Given the description of an element on the screen output the (x, y) to click on. 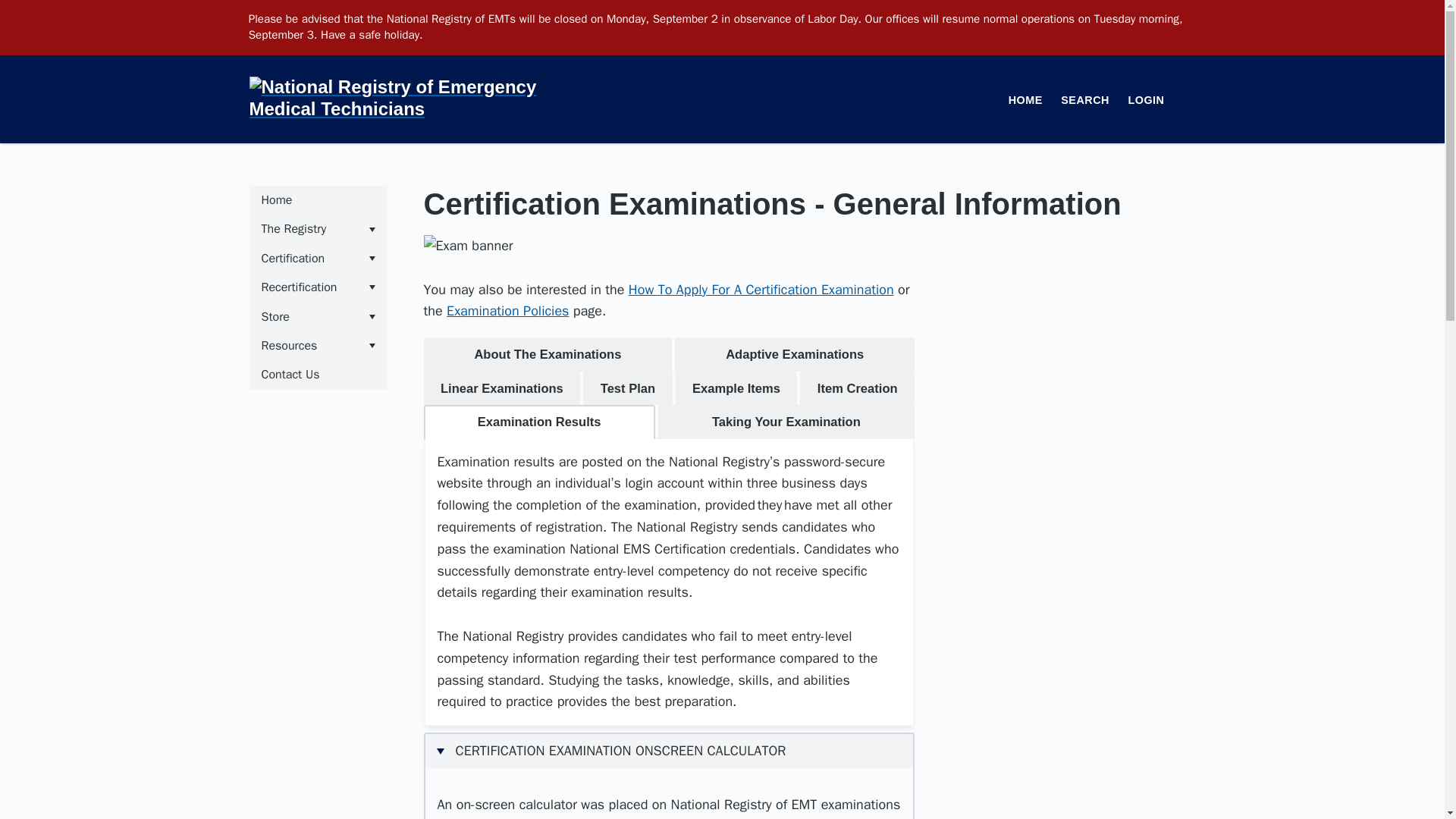
Home (317, 199)
How To Apply For A Certification Examination (760, 289)
Examination Policies (507, 310)
LOGIN (1145, 100)
HOME (1025, 100)
SEARCH (1084, 100)
Contact Us (317, 374)
